Given the description of an element on the screen output the (x, y) to click on. 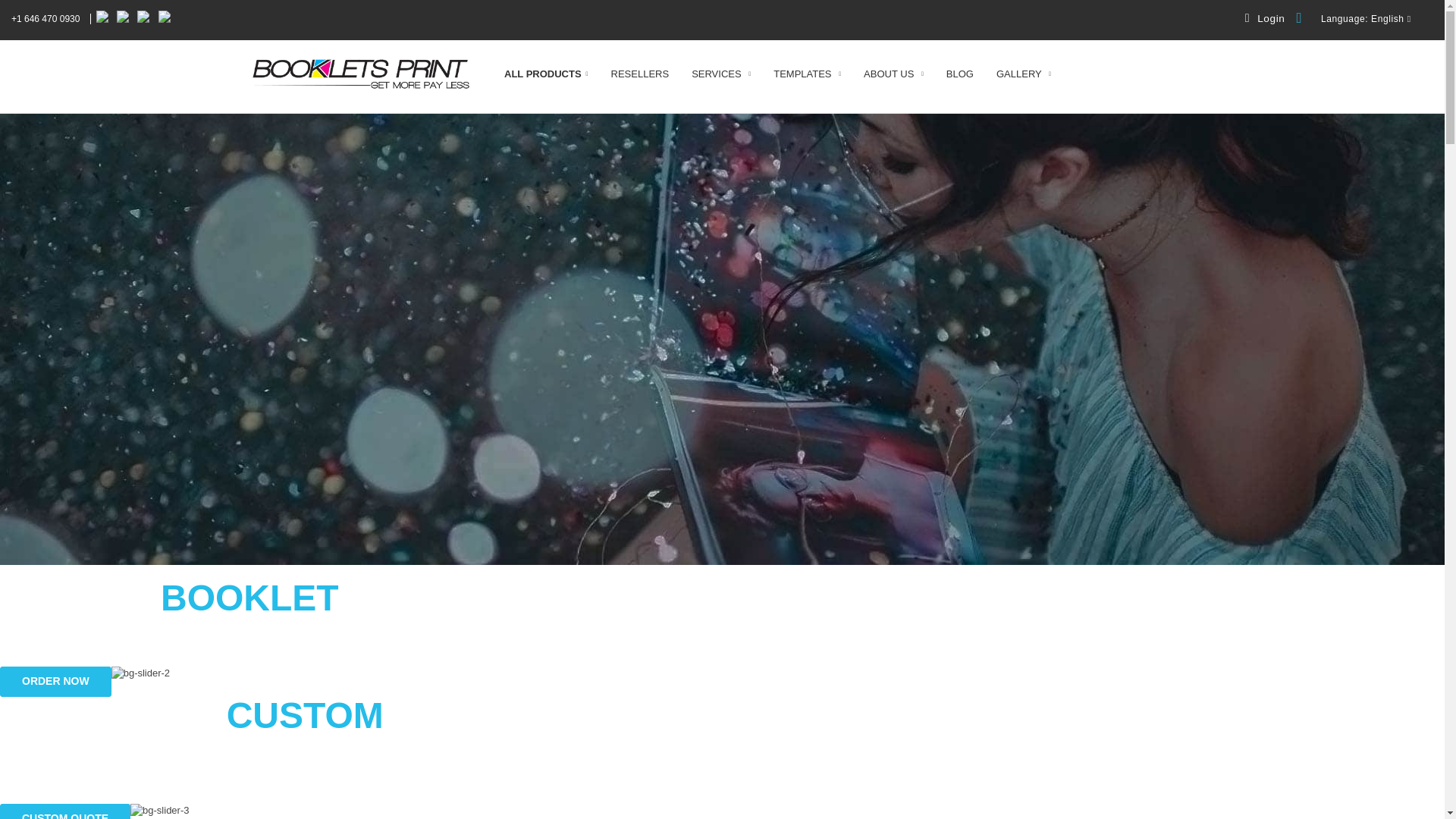
Login (1264, 17)
TikTok (165, 18)
SERVICES (721, 73)
ALL PRODUCTS (545, 73)
TEMPLATES (807, 73)
Facebook (101, 18)
Services (721, 73)
BLOG (960, 73)
Instagram (124, 18)
ABOUT US (893, 73)
